Given the description of an element on the screen output the (x, y) to click on. 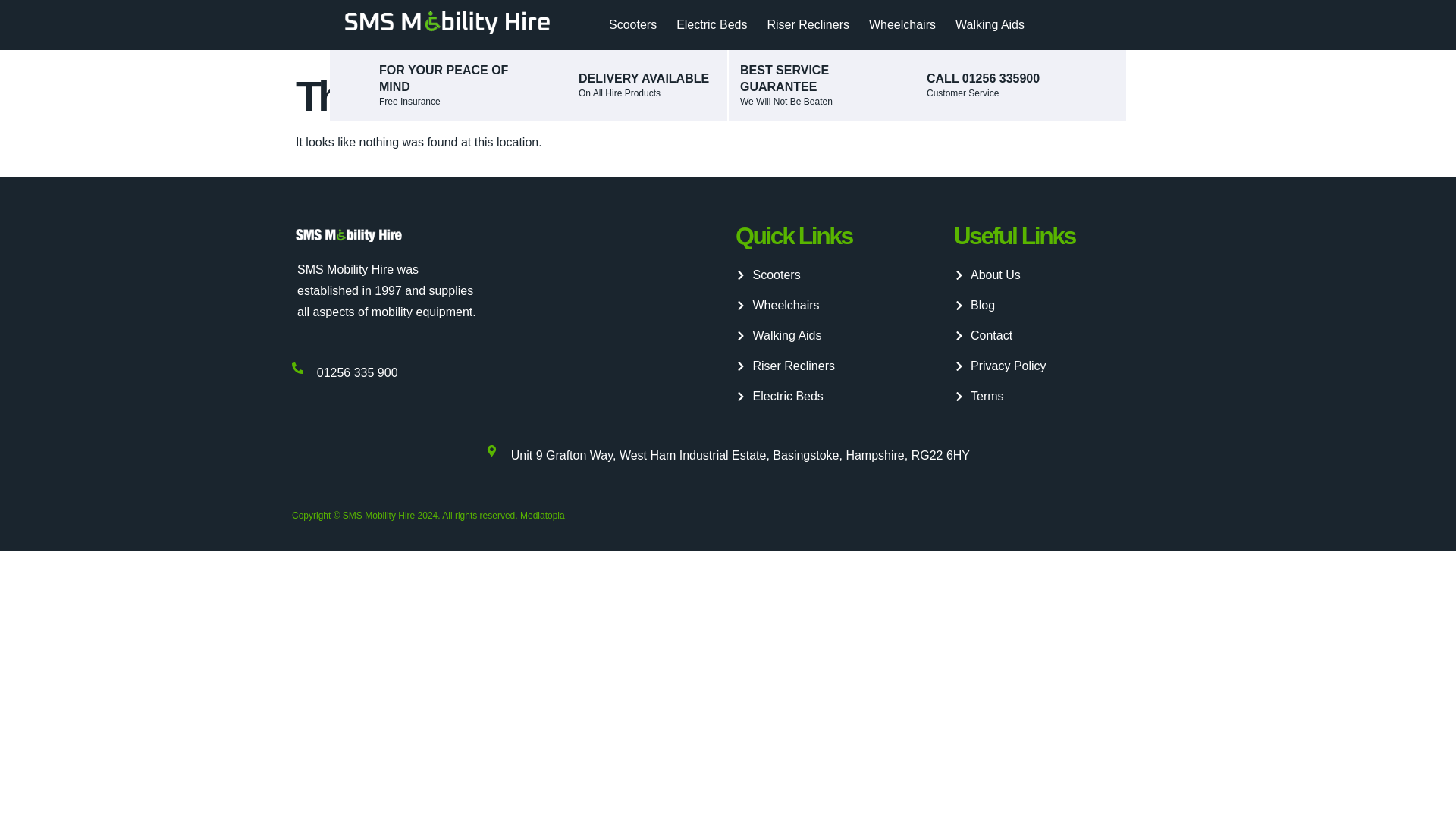
Riser Recliners (840, 365)
oxanium-logo (443, 20)
About Us (1058, 274)
Terms (1058, 396)
Scooters (635, 24)
Riser Recliners (812, 24)
Electric Beds (840, 396)
Electric Beds (714, 24)
Wheelchairs (840, 305)
Walking Aids (840, 335)
Walking Aids (993, 24)
Blog (1058, 305)
Wheelchairs (906, 24)
Contact (1058, 335)
Scooters (840, 274)
